Given the description of an element on the screen output the (x, y) to click on. 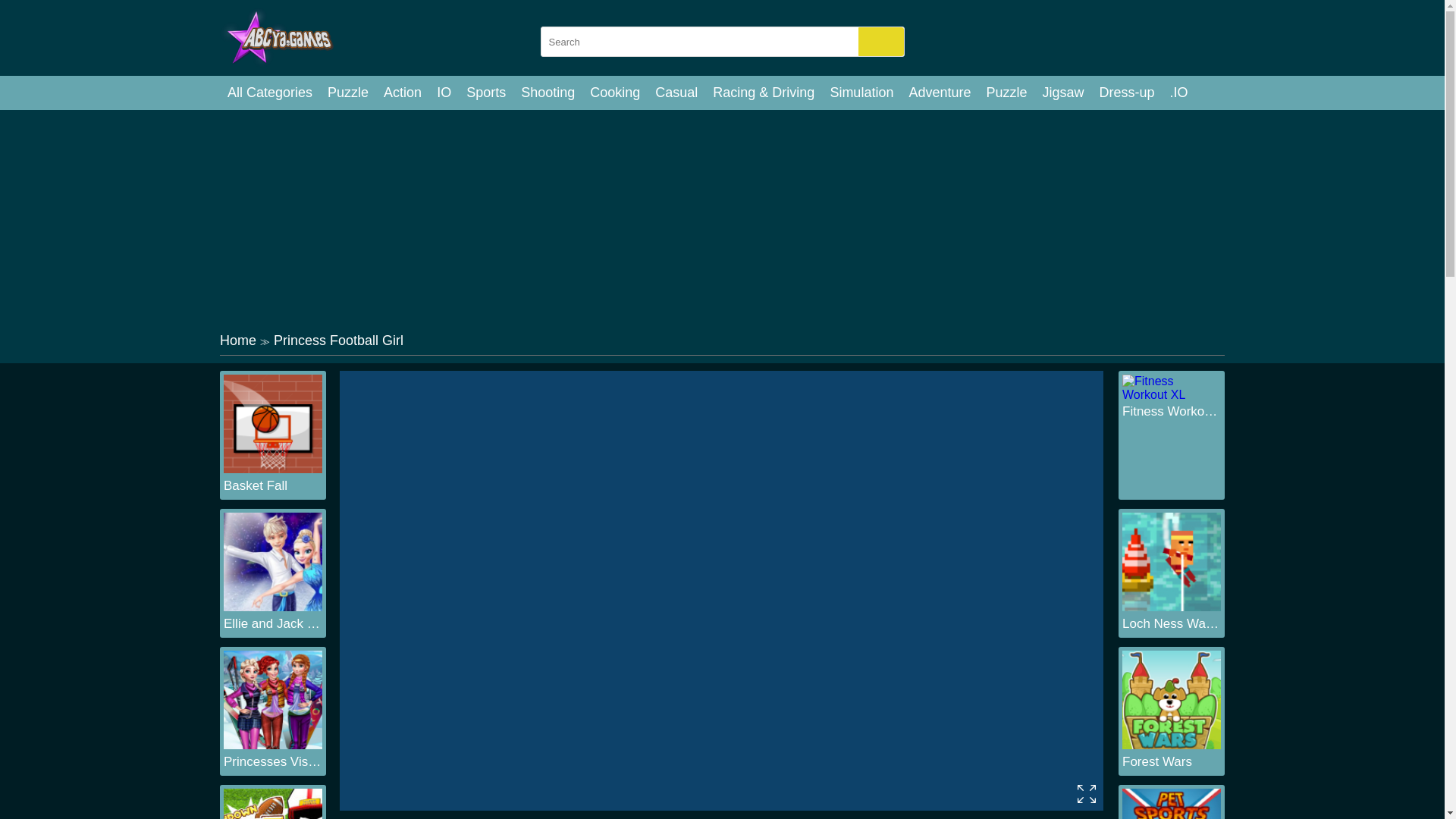
Casual (675, 92)
Basket Fall (272, 485)
Puzzle (347, 92)
Puzzle (347, 92)
.IO (1178, 92)
Action (402, 92)
Puzzle (1005, 92)
.IO (1178, 92)
Simulation (861, 92)
Sports (485, 92)
Puzzle (1005, 92)
Home (237, 340)
Shooting (547, 92)
Princesses Visit Arendelle (272, 761)
Adventure (939, 92)
